Given the description of an element on the screen output the (x, y) to click on. 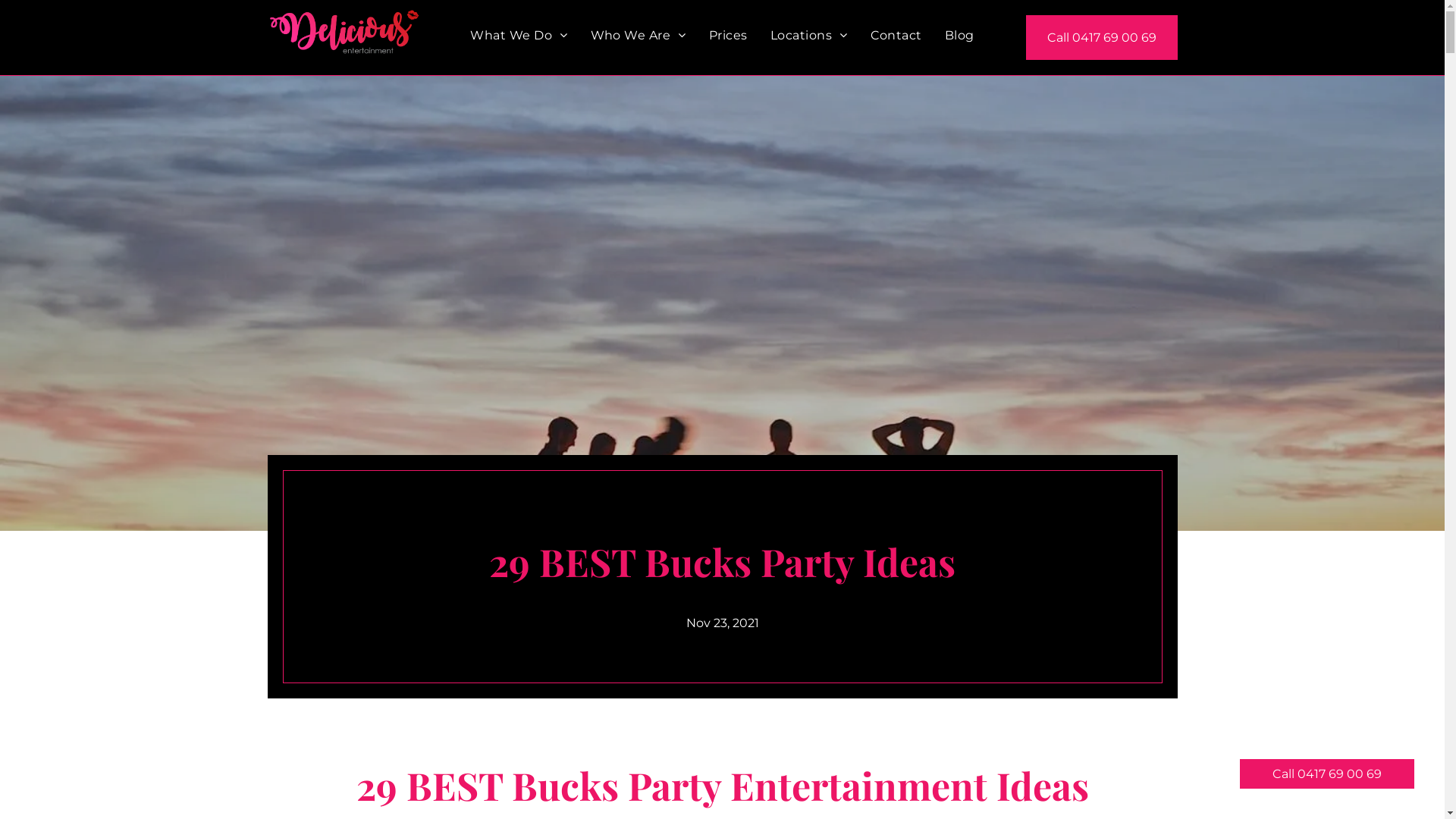
What We Do Element type: text (518, 35)
Locations Element type: text (809, 35)
Contact Element type: text (895, 35)
Call 0417 69 00 69 Element type: text (1326, 773)
Who We Are Element type: text (638, 35)
Call 0417 69 00 69 Element type: text (1100, 37)
Blog Element type: text (959, 35)
Prices Element type: text (728, 35)
